Given the description of an element on the screen output the (x, y) to click on. 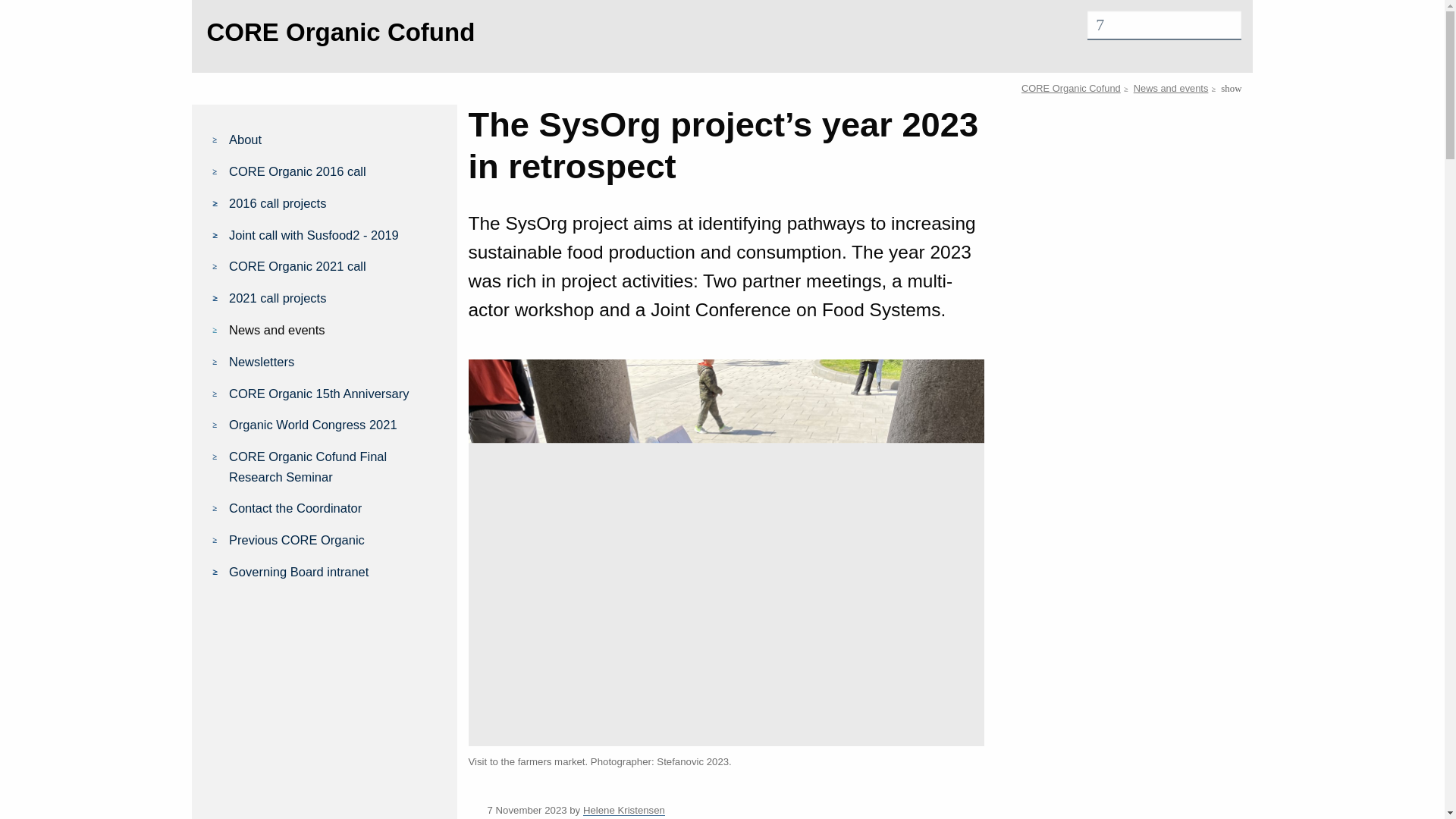
Previous CORE Organic (334, 539)
About (334, 139)
Contact the Coordinator (334, 507)
News and events (334, 329)
CORE Organic 2021 call (334, 266)
Joint call with Susfood2 - 2019 (334, 234)
2021 call projects (334, 297)
Helene Kristensen (624, 809)
Search (19, 7)
Newsletters (334, 361)
